Given the description of an element on the screen output the (x, y) to click on. 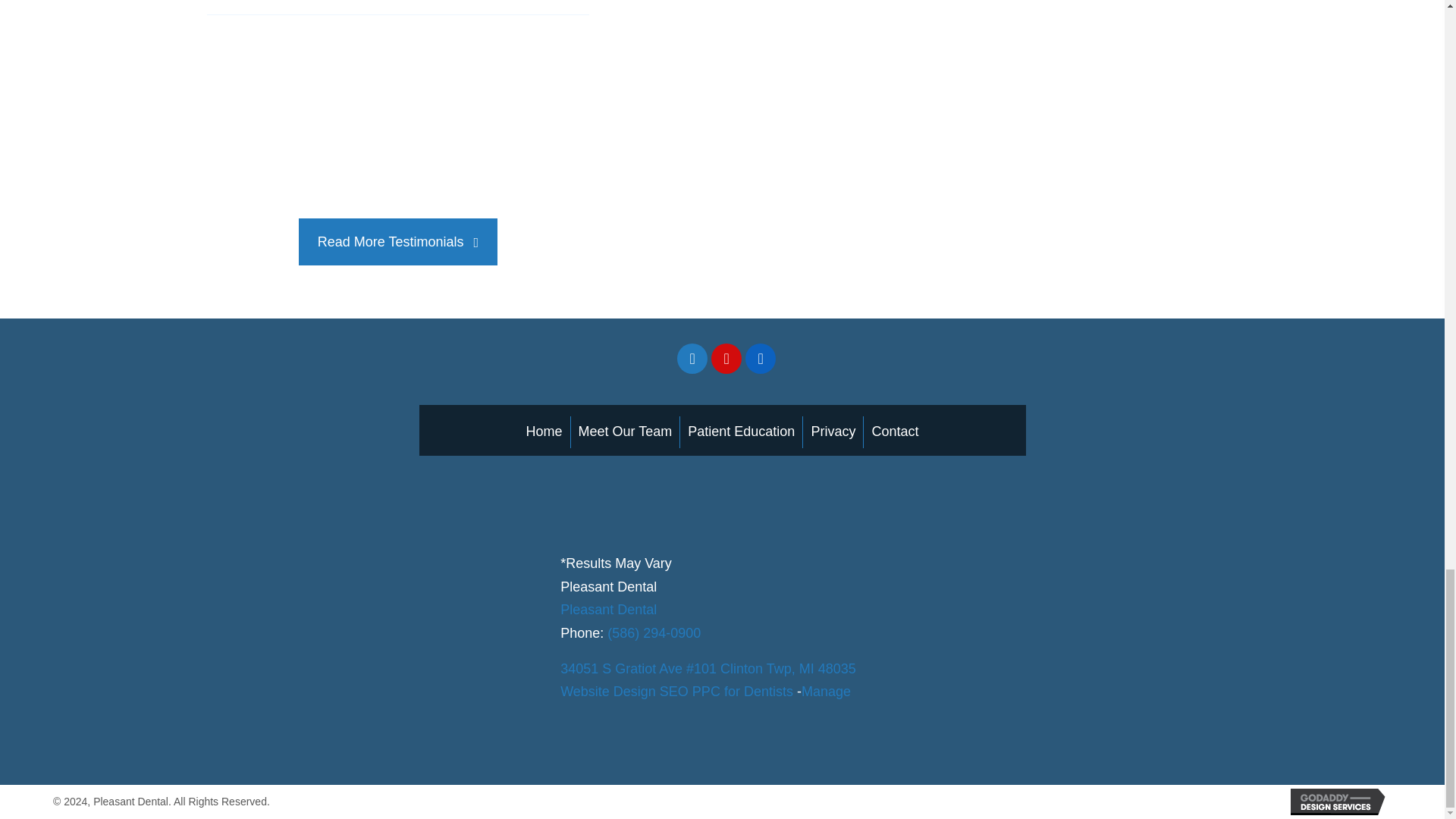
logo (355, 627)
Facebook (692, 358)
Read More Testimonials (397, 241)
google-busines (793, 358)
Website Design SEO PPC for Dentists (676, 691)
